Given the description of an element on the screen output the (x, y) to click on. 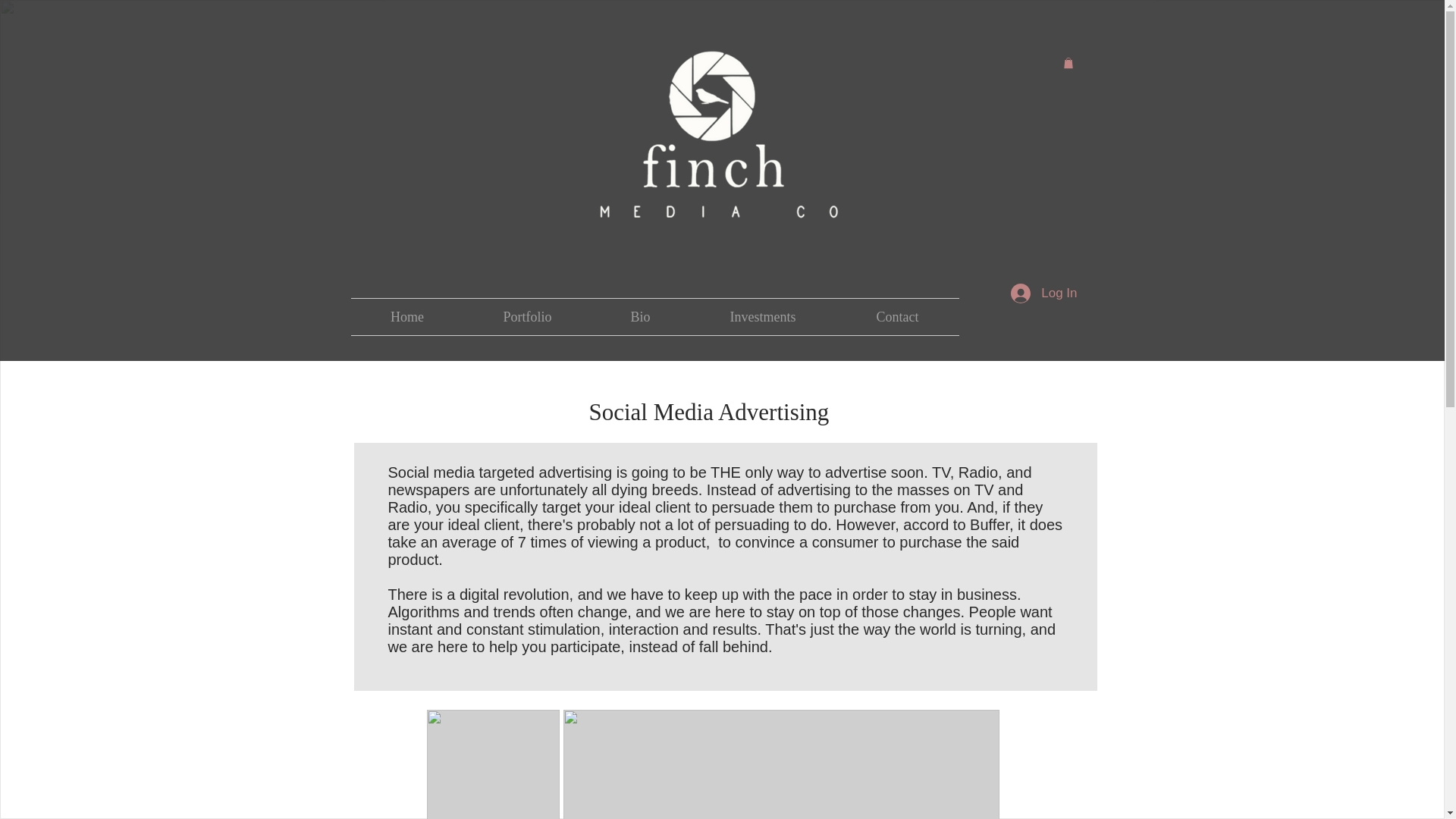
Portfolio (527, 316)
Contact (896, 316)
Investments (762, 316)
Log In (1043, 293)
Bio (640, 316)
Home (406, 316)
